Given the description of an element on the screen output the (x, y) to click on. 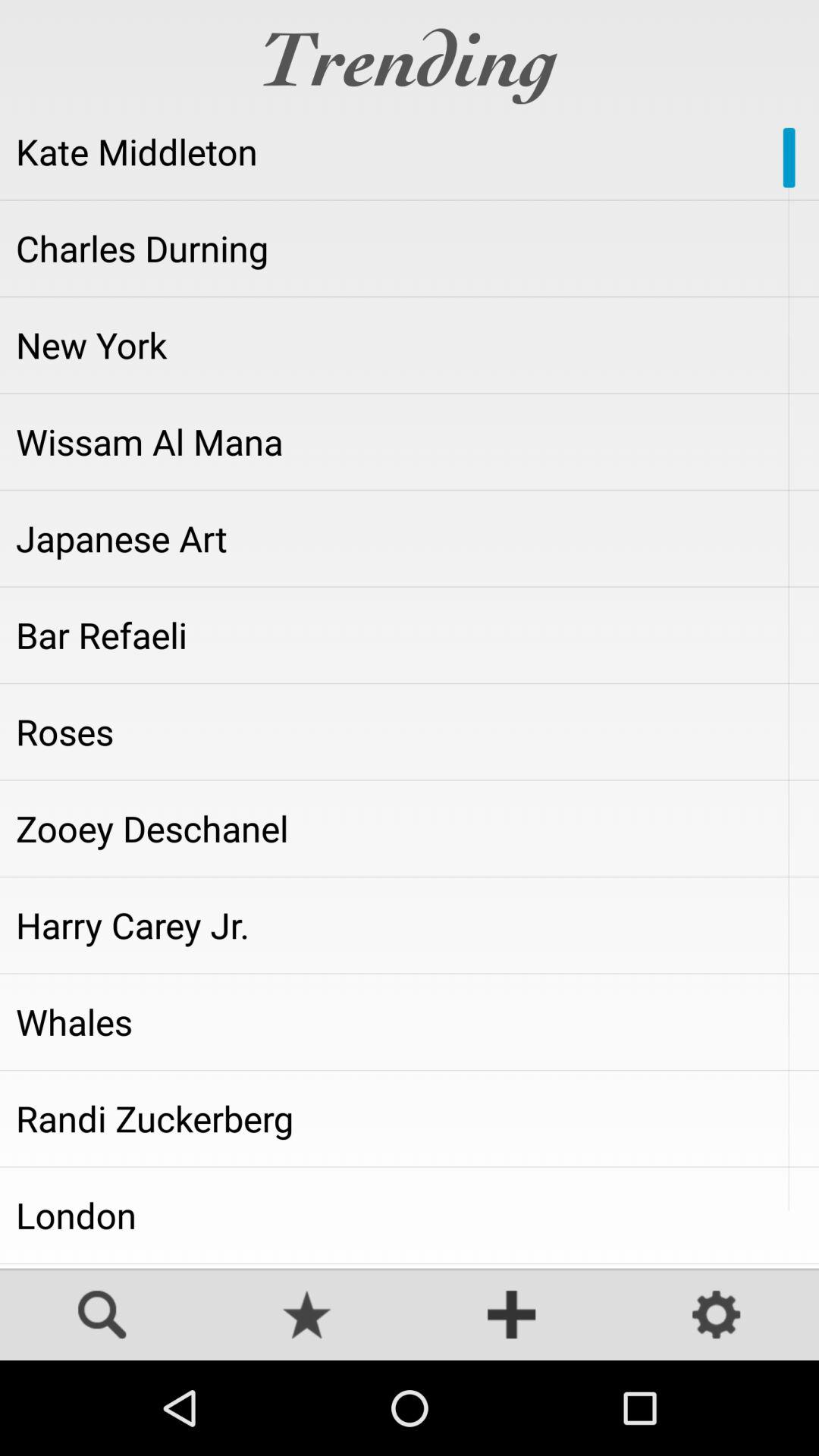
select app above harry carey jr. item (409, 828)
